Given the description of an element on the screen output the (x, y) to click on. 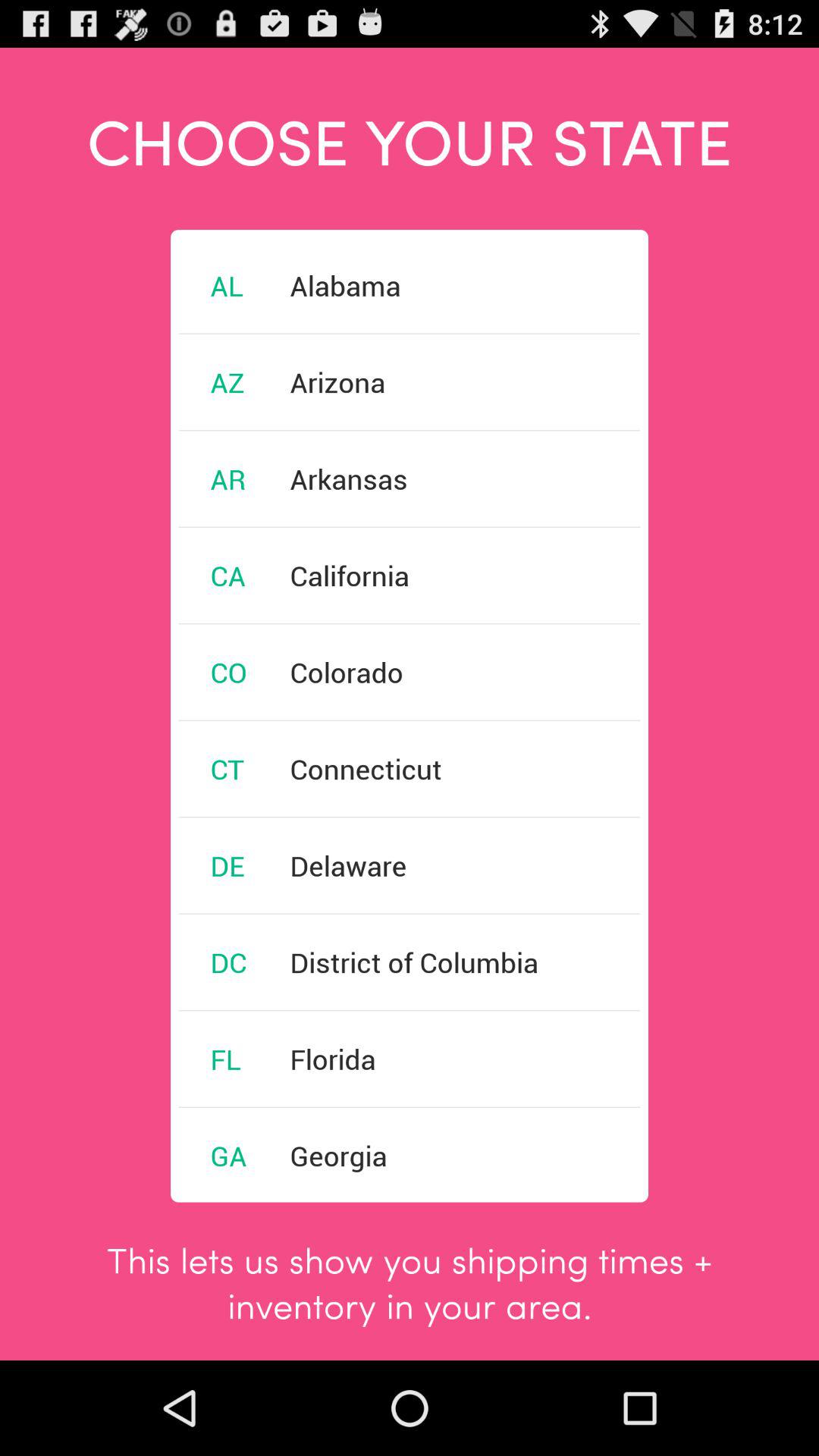
turn off colorado item (346, 672)
